Given the description of an element on the screen output the (x, y) to click on. 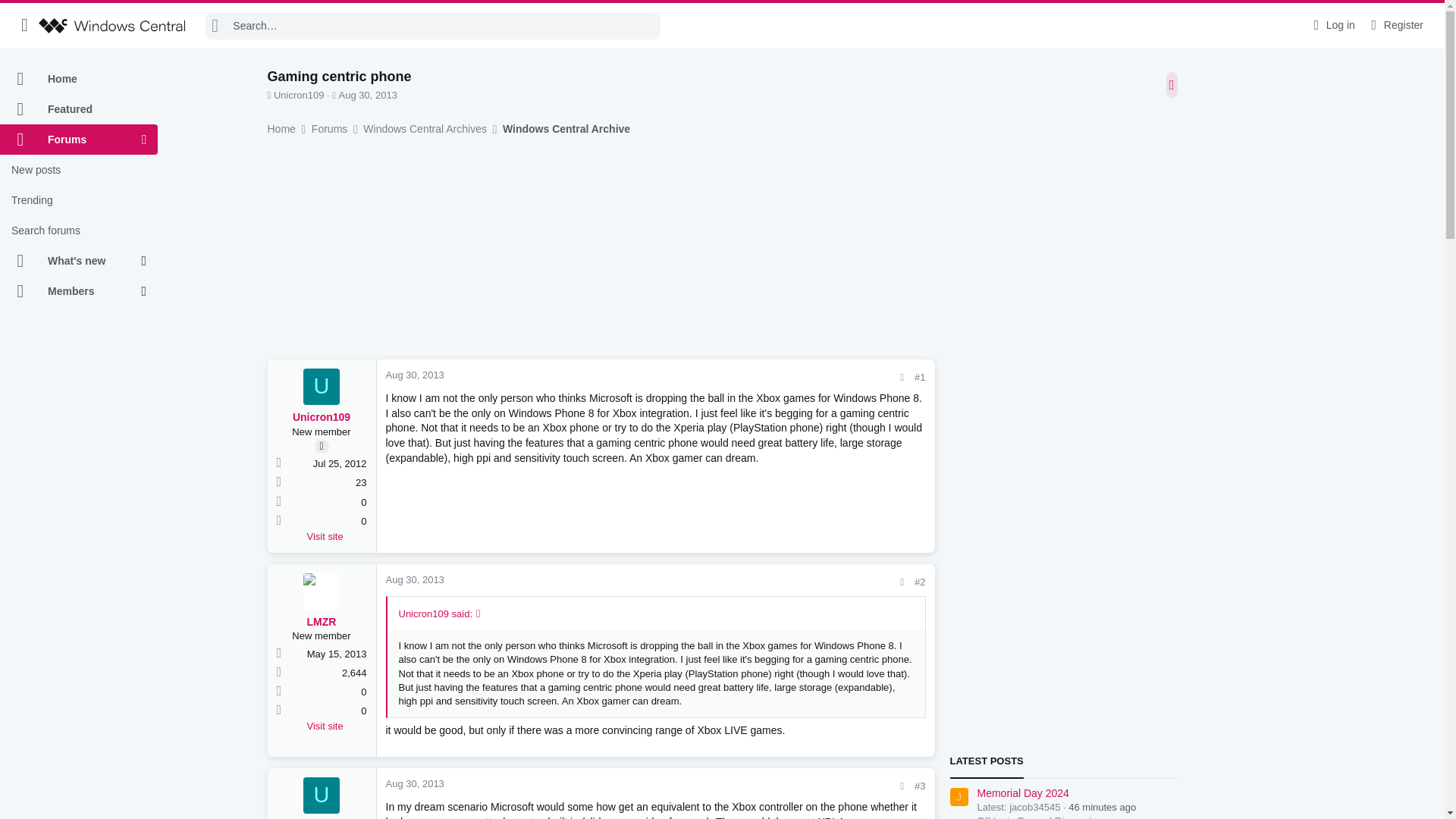
Aug 30, 2013 at 10:09 AM (368, 94)
Aug 30, 2013 at 12:38 PM (414, 783)
Search forums (78, 230)
Home (78, 78)
Trending (78, 200)
Aug 30, 2013 at 10:09 AM (414, 374)
Forums (70, 139)
What's new (70, 260)
Log in (1332, 24)
Aug 30, 2013 at 10:11 AM (414, 579)
